Given the description of an element on the screen output the (x, y) to click on. 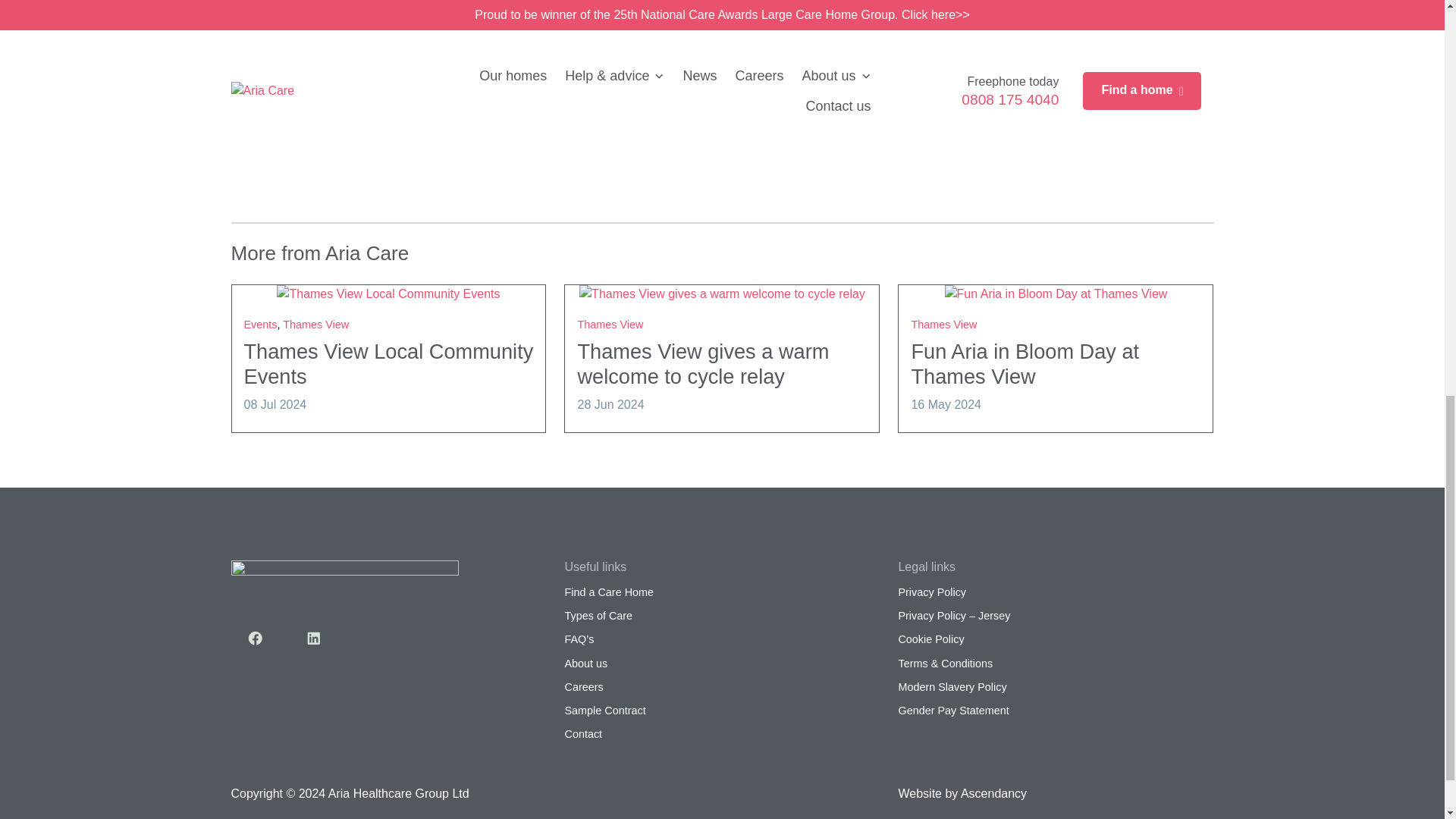
Events (261, 324)
Thames View (315, 324)
Fun Aria in Bloom Day at Thames View (1024, 363)
Thames View (609, 324)
Thames View Local Community Events (387, 293)
Ascendancy (993, 793)
Thames View gives a warm welcome to cycle relay (702, 363)
Thames View gives a warm welcome to cycle relay (702, 363)
Thames View Local Community Events (389, 363)
Thames View (943, 324)
